Given the description of an element on the screen output the (x, y) to click on. 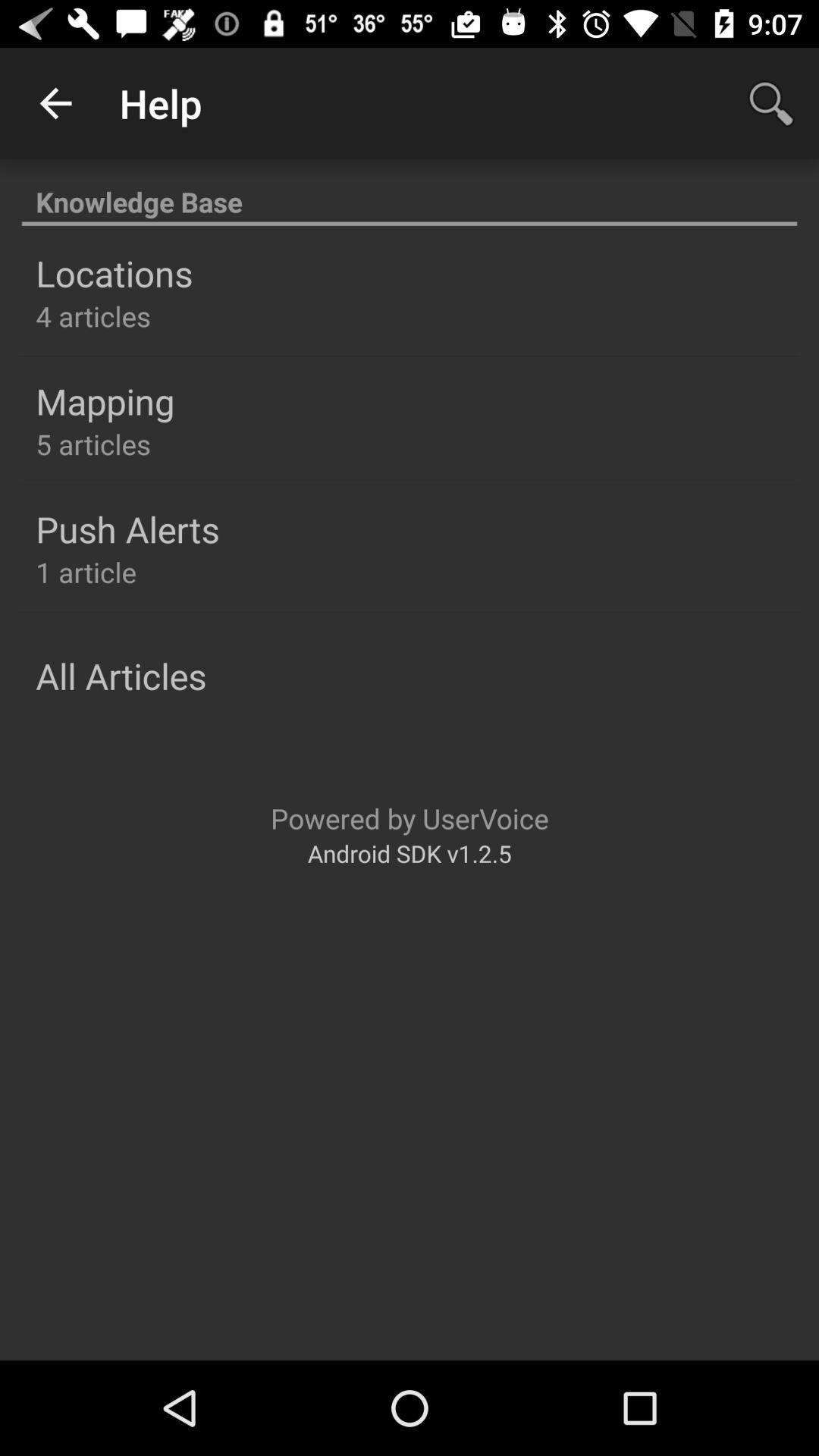
turn off the icon at the top right corner (771, 103)
